Given the description of an element on the screen output the (x, y) to click on. 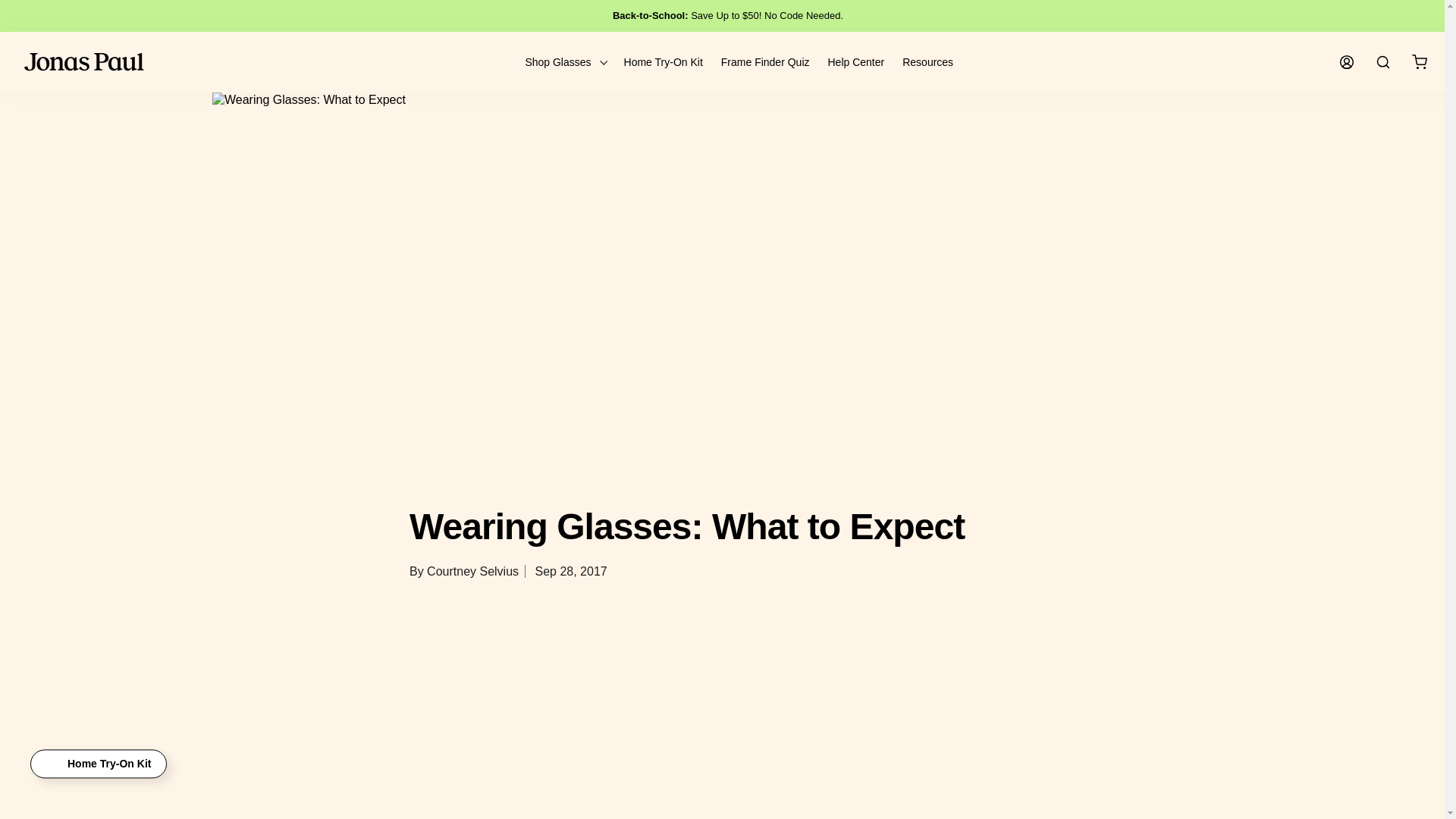
Home Try-On Kit (663, 61)
Log in (1346, 61)
Search (1382, 61)
Resources (927, 61)
Frame Finder Quiz (764, 61)
View Homepage (84, 62)
Jonas Paul Eyewear logo (84, 62)
Help Center (856, 61)
Cart (1419, 61)
Shop Glasses (564, 61)
